Given the description of an element on the screen output the (x, y) to click on. 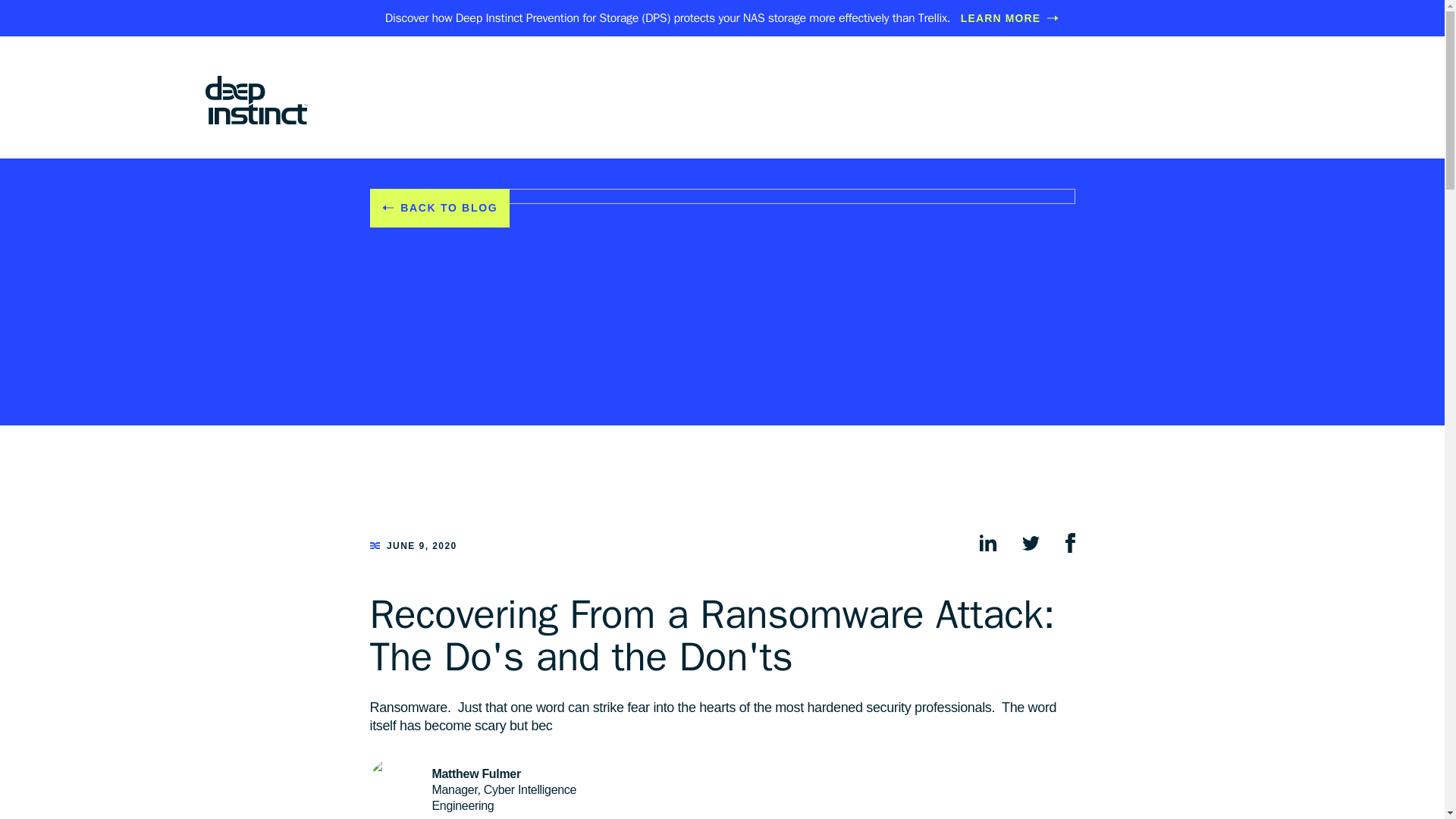
LEARN MORE (1009, 17)
BACK TO BLOG (440, 208)
